Given the description of an element on the screen output the (x, y) to click on. 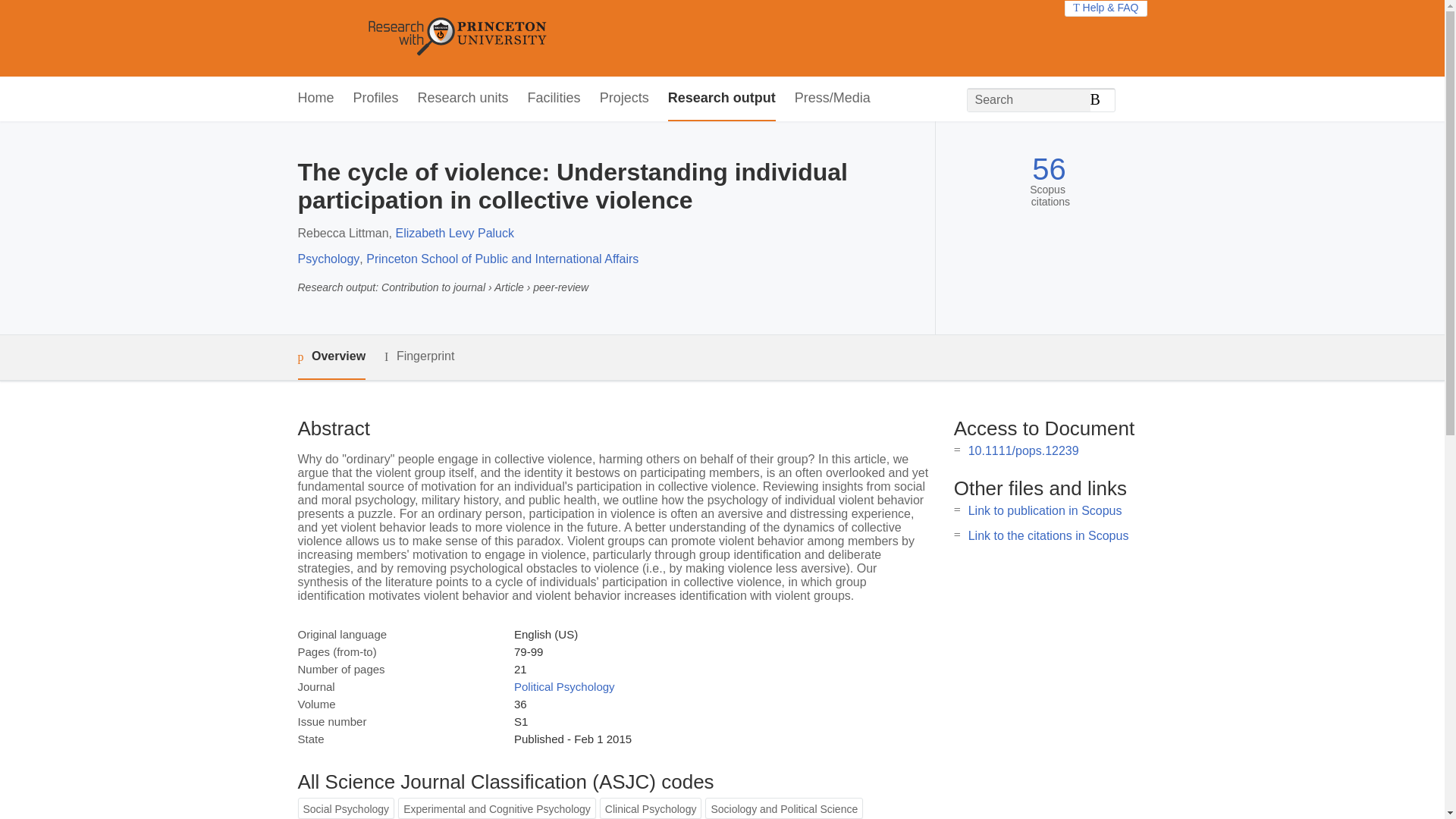
Profiles (375, 98)
Princeton University Home (567, 38)
Psychology (328, 258)
Facilities (553, 98)
Princeton School of Public and International Affairs (502, 258)
Fingerprint (419, 356)
Research units (462, 98)
Elizabeth Levy Paluck (453, 232)
56 (1048, 169)
Home (315, 98)
Political Psychology (563, 686)
Link to publication in Scopus (1045, 510)
Link to the citations in Scopus (1048, 535)
Projects (624, 98)
